Given the description of an element on the screen output the (x, y) to click on. 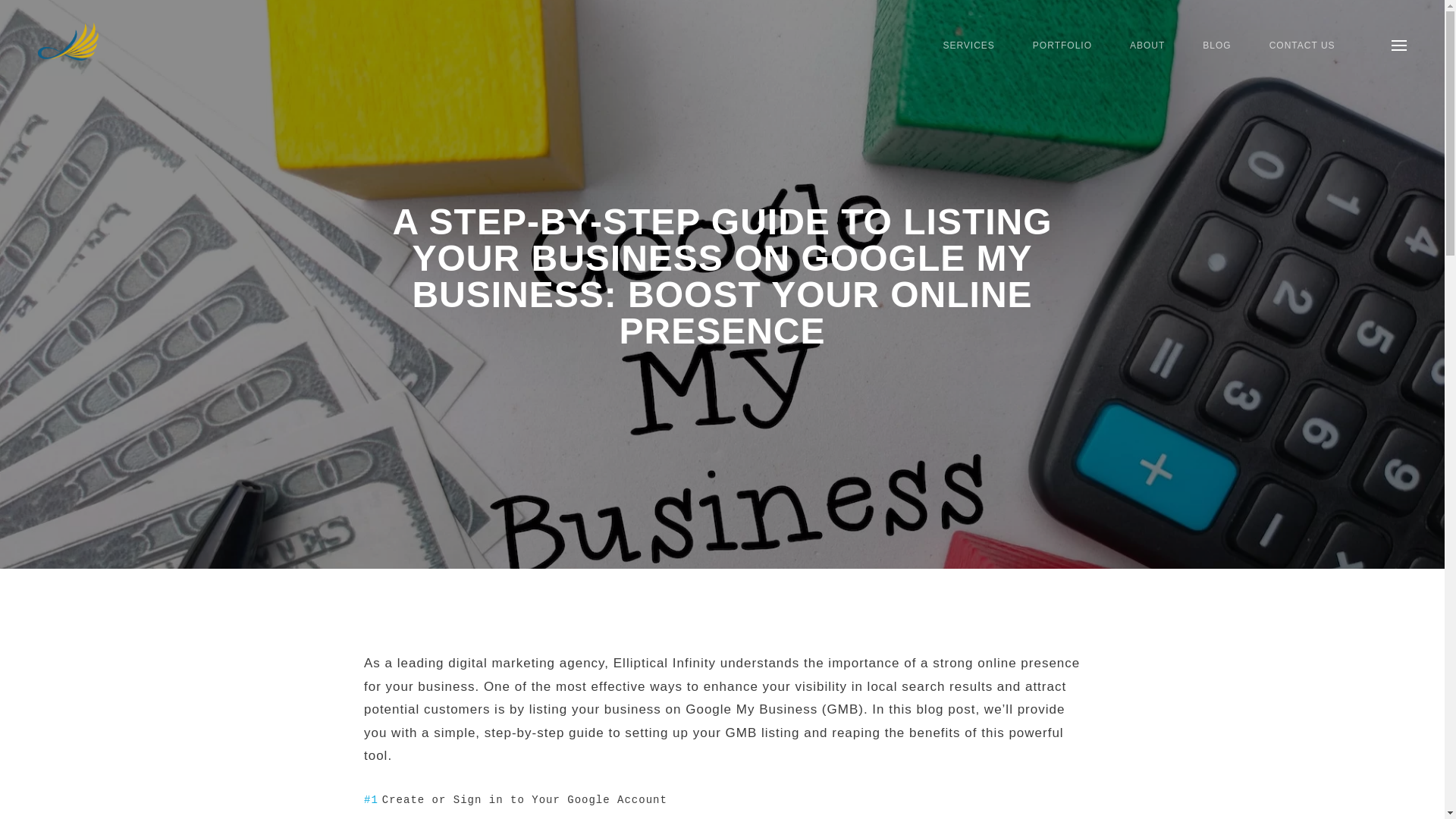
BLOG (1216, 45)
PORTFOLIO (1062, 45)
SERVICES (968, 45)
ABOUT (1146, 45)
CONTACT US (1302, 45)
